Given the description of an element on the screen output the (x, y) to click on. 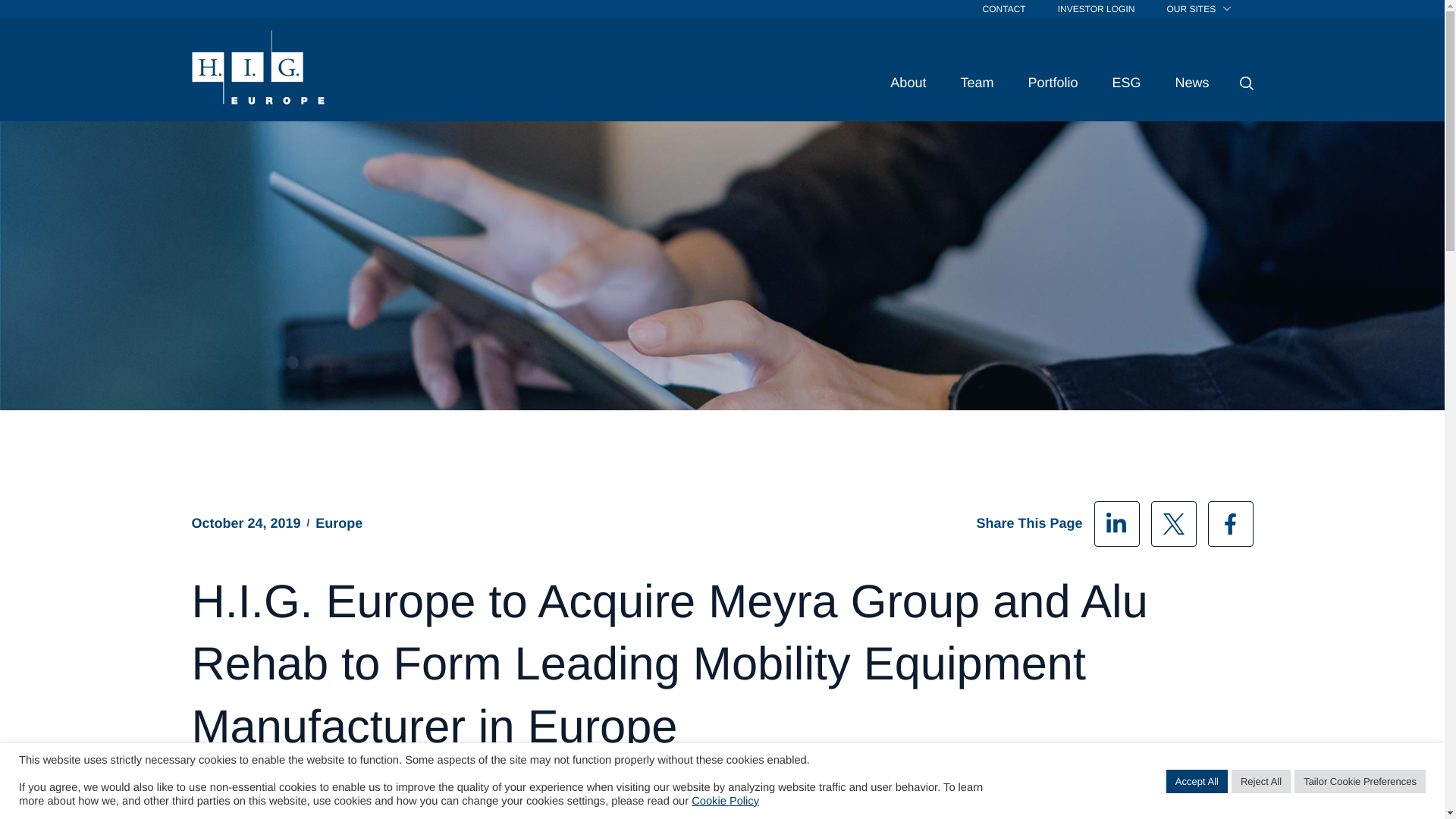
OUR SITES (1197, 9)
Facebook (1229, 524)
ESG (1126, 82)
Investor Login (1096, 9)
Our Sites (1197, 9)
Team (975, 82)
CONTACT (1004, 9)
About (907, 82)
Portfolio (1052, 82)
INVESTOR LOGIN (1096, 9)
LinkedIn (1115, 524)
About (907, 82)
Twitter (1173, 524)
News (1191, 82)
Contact (1004, 9)
